Given the description of an element on the screen output the (x, y) to click on. 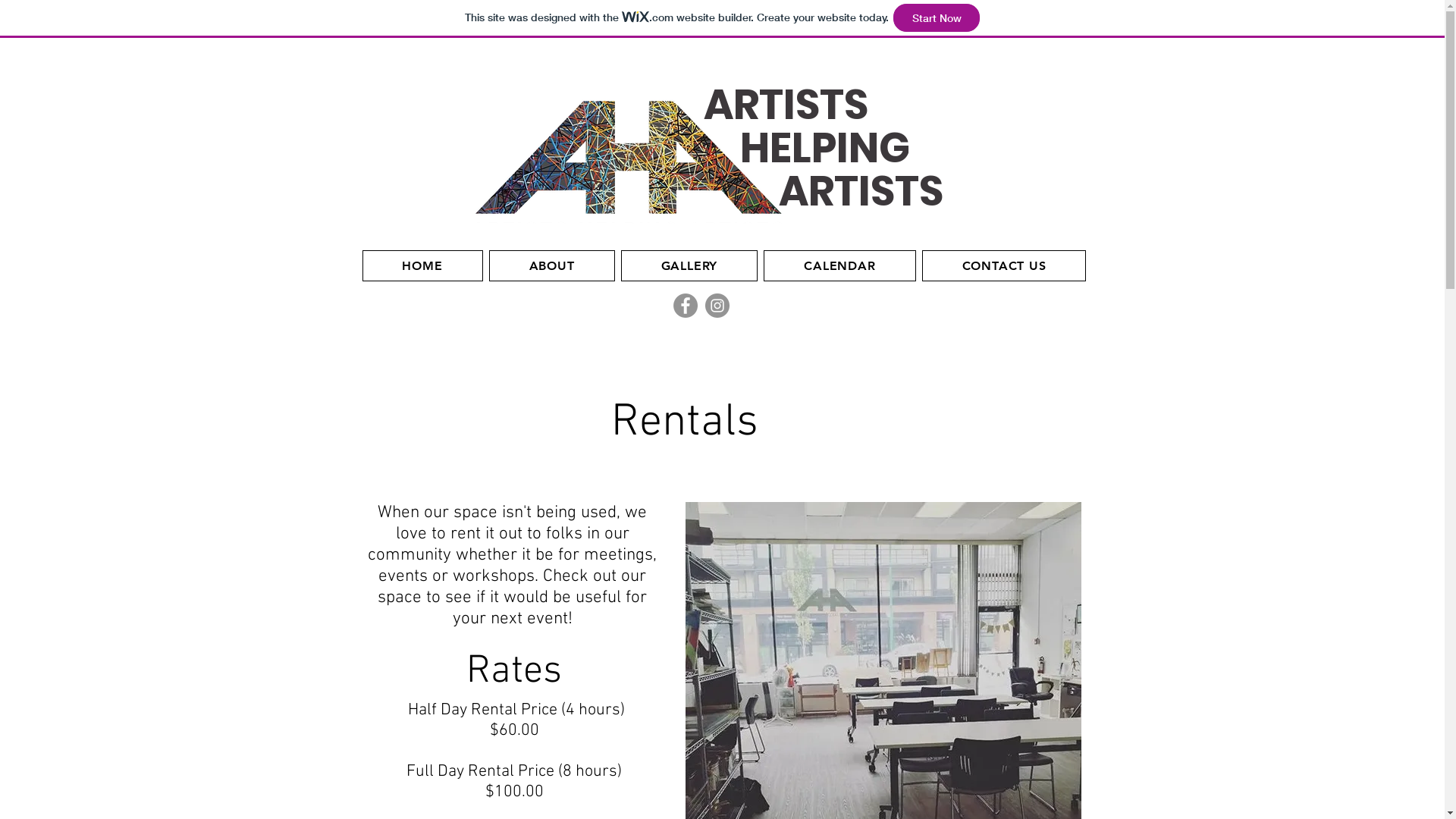
GALLERY Element type: text (689, 265)
CALENDAR Element type: text (839, 265)
ABOUT Element type: text (552, 265)
HOME Element type: text (422, 265)
CONTACT US Element type: text (1004, 265)
